Given the description of an element on the screen output the (x, y) to click on. 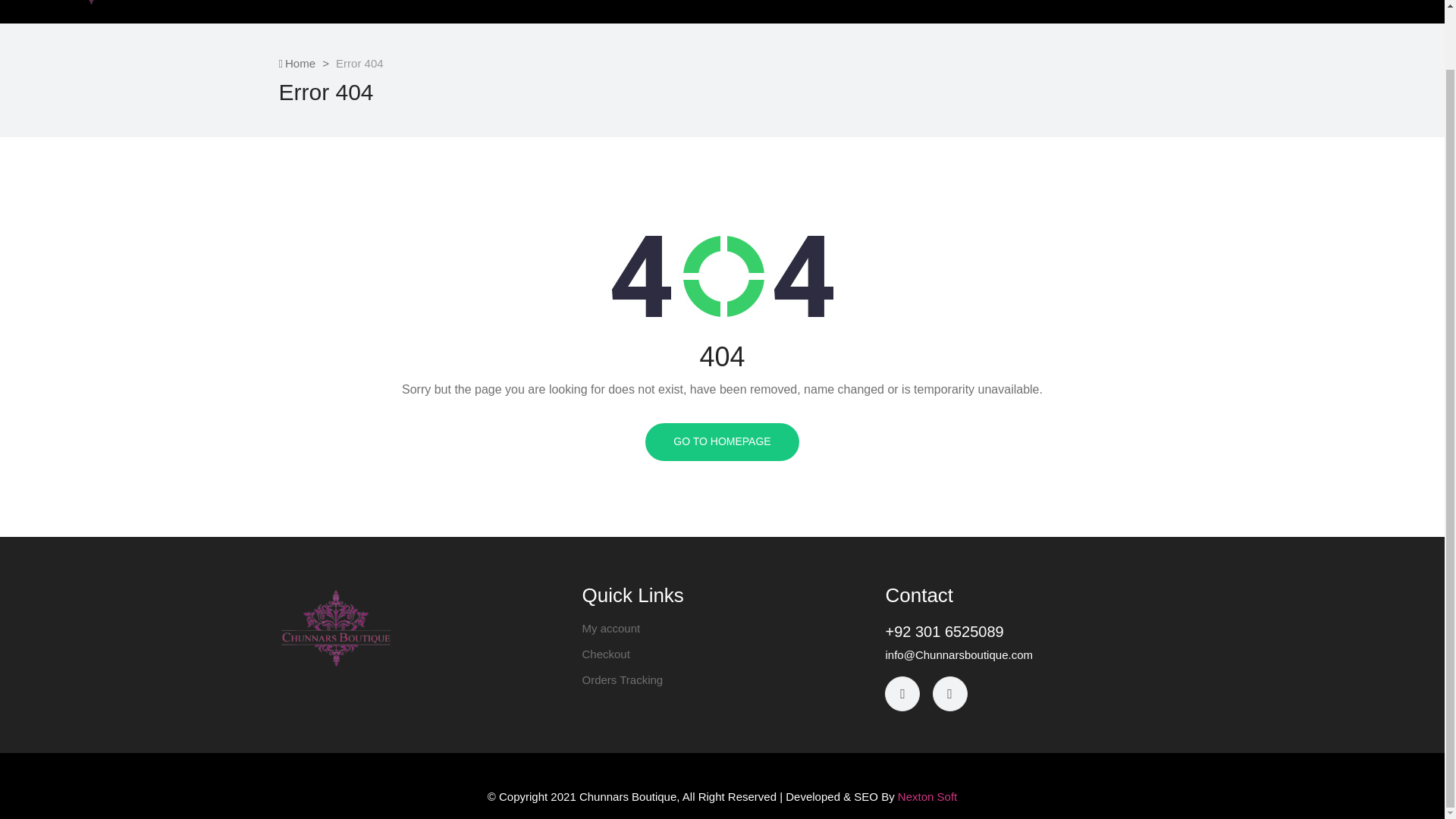
sign in (1270, 244)
logo (336, 627)
